Given the description of an element on the screen output the (x, y) to click on. 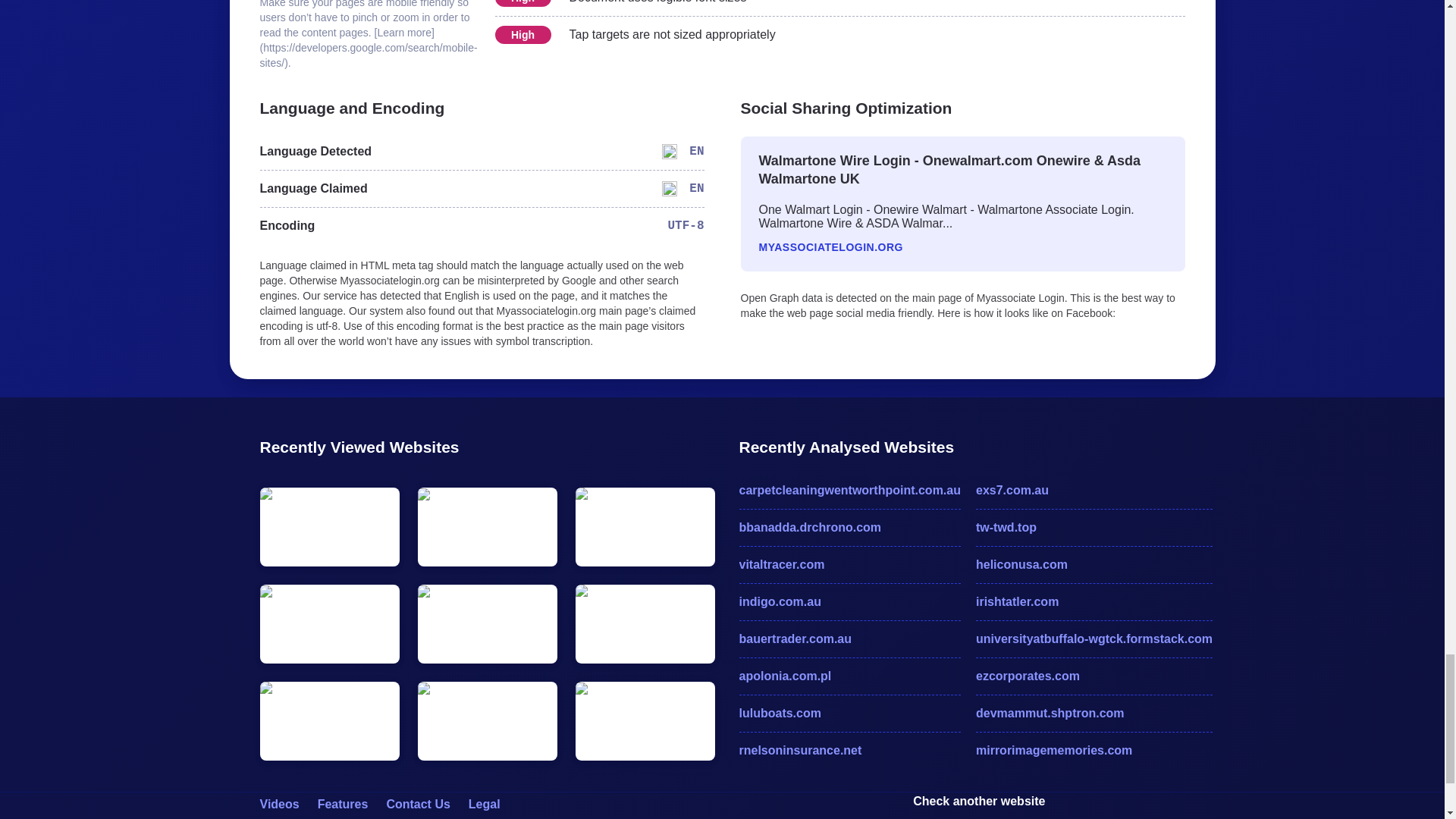
mirrorimagememories.com (1093, 751)
Features (342, 803)
carpetcleaningwentworthpoint.com.au (848, 490)
Screencasts: video tutorials and guides (278, 803)
ezcorporates.com (1093, 676)
heliconusa.com (1093, 565)
bbanadda.drchrono.com (848, 527)
Legal (484, 803)
universityatbuffalo-wgtck.formstack.com (1093, 638)
apolonia.com.pl (848, 676)
tw-twd.top (1093, 527)
vitaltracer.com (848, 565)
indigo.com.au (848, 601)
devmammut.shptron.com (1093, 713)
